Given the description of an element on the screen output the (x, y) to click on. 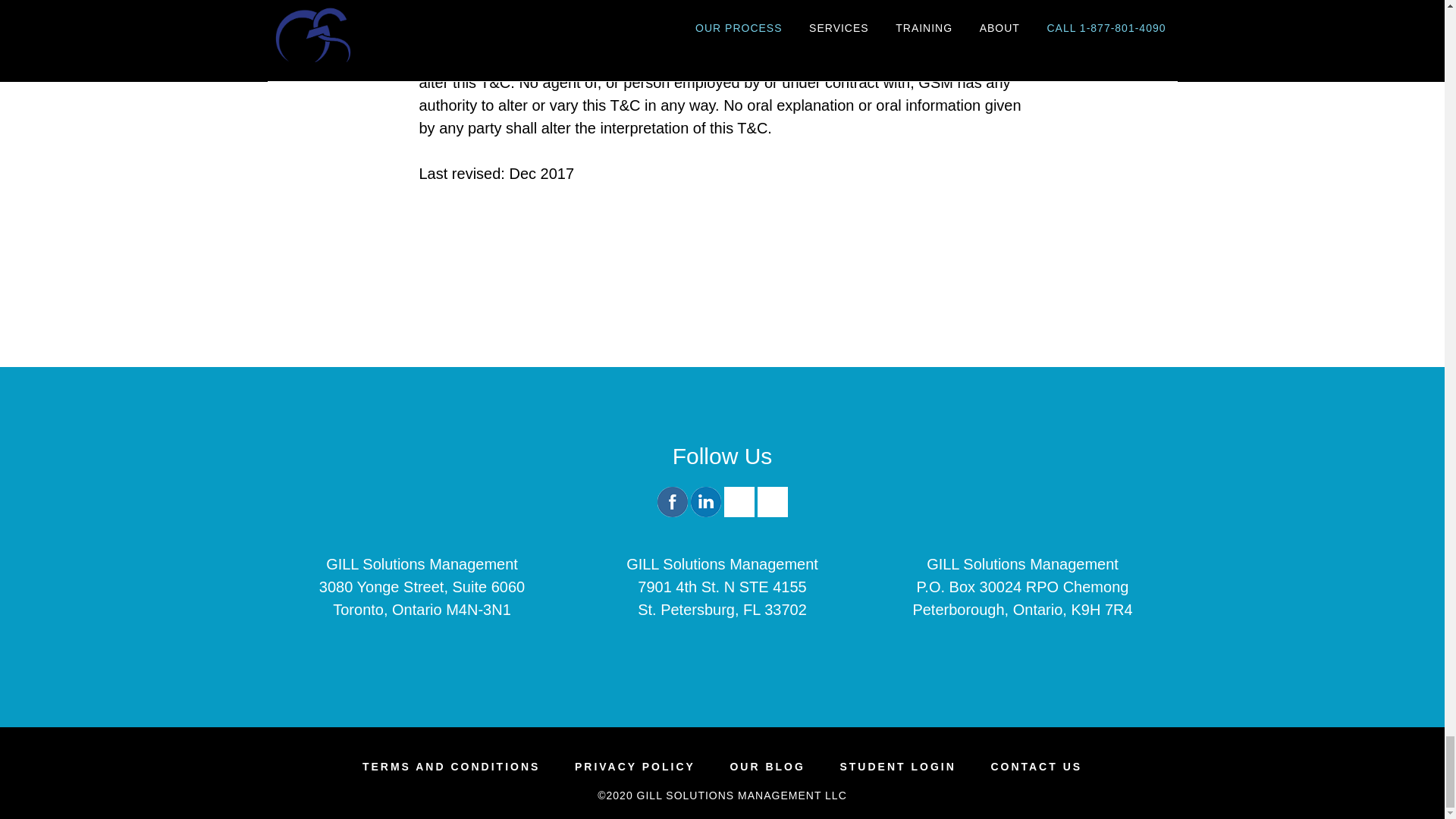
OUR BLOG (767, 766)
LinkedIn (705, 513)
PRIVACY POLICY (635, 766)
YouTube (772, 513)
YouTube (772, 501)
Twitter (738, 501)
LinkedIn (705, 501)
TERMS AND CONDITIONS (451, 766)
Twitter (738, 513)
Facebook (671, 501)
